Given the description of an element on the screen output the (x, y) to click on. 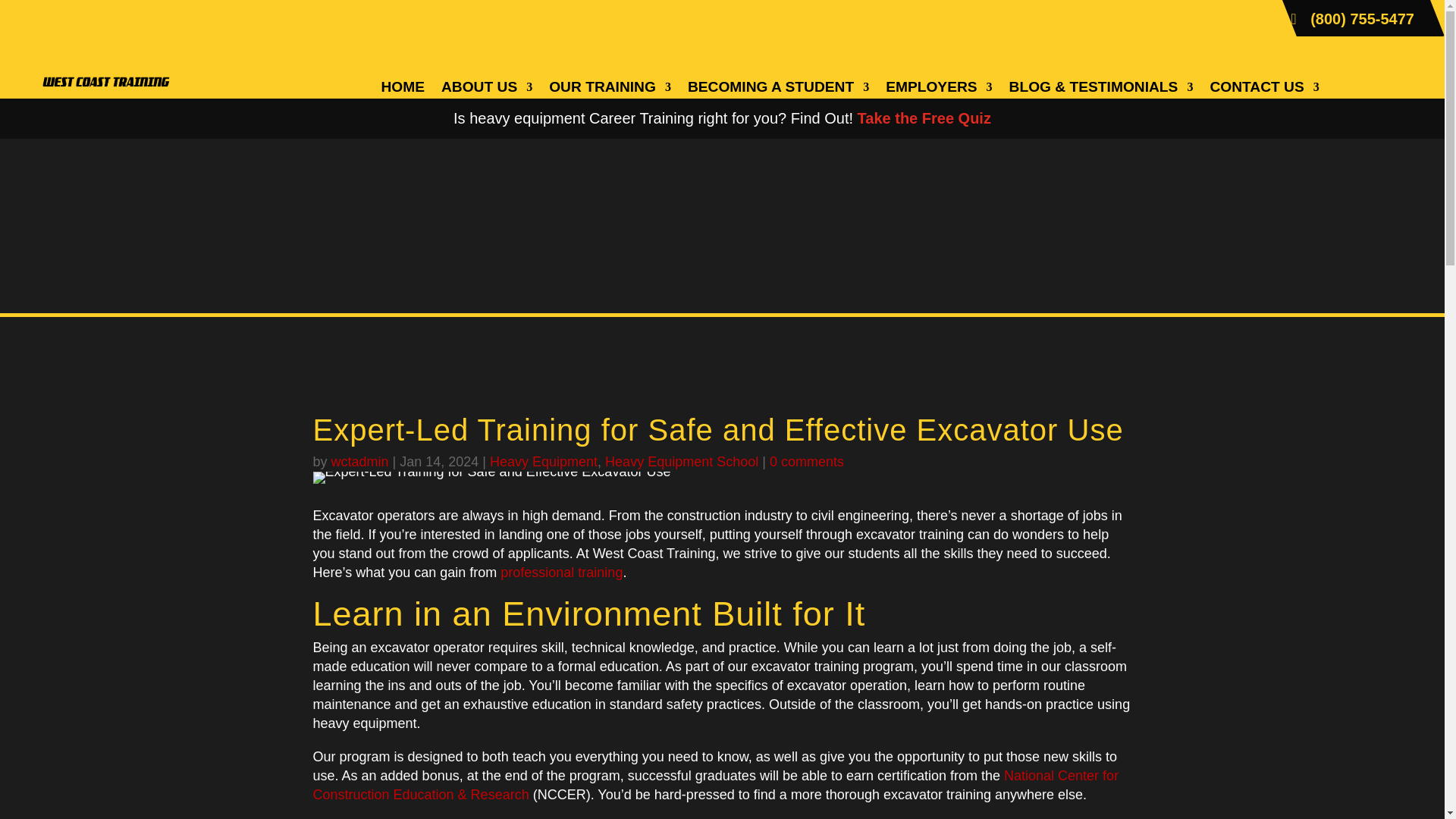
Take the Free Quiz (924, 117)
HOME (402, 89)
Expert-Led Training for Safe and Effective Excavator Use (491, 477)
Posts by wctadmin (359, 461)
wctadmin (359, 461)
OUR TRAINING (609, 89)
ABOUT US (486, 89)
EMPLOYERS (938, 89)
CONTACT US (1264, 89)
BECOMING A STUDENT (778, 89)
